Given the description of an element on the screen output the (x, y) to click on. 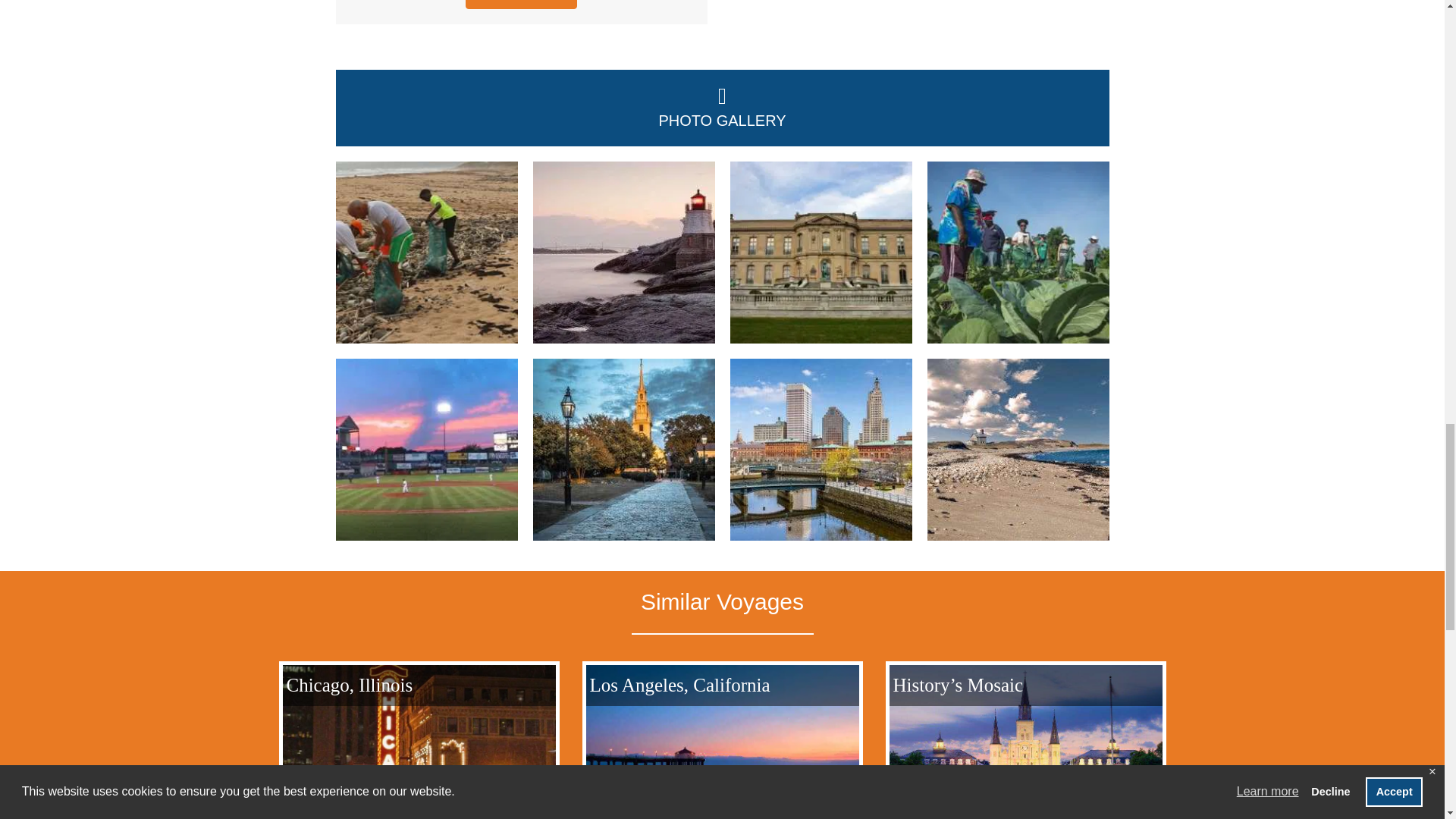
Elms Mansion in Rhode Island (820, 252)
Providence Rhode Island Skyline (820, 449)
Beach clean up service project (425, 252)
McCoy Stadium in Rhode Island (425, 449)
Castle Hill Lighthouse in Rhode Island (623, 252)
Block Island in Rhode Island (1017, 449)
Newport Rhode Island city street (623, 449)
Gleaning collard greens (1017, 252)
